Given the description of an element on the screen output the (x, y) to click on. 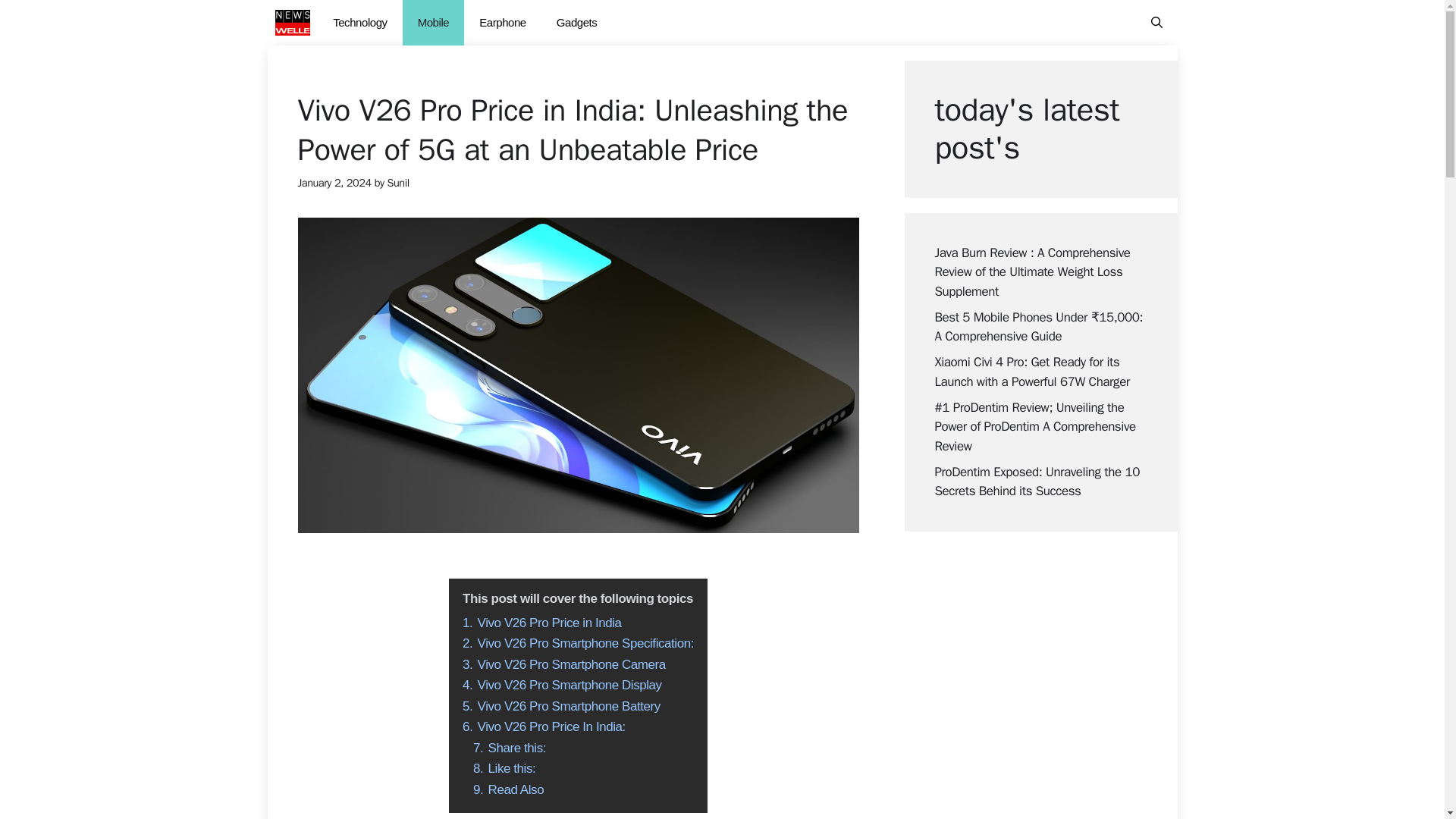
1. Vivo V26 Pro Price in India (542, 622)
2. Vivo V26 Pro Smartphone Specification: (578, 643)
View all posts by Sunil (398, 182)
Earphone (502, 22)
Mobile (433, 22)
8. Like this: (504, 768)
Gadgets (576, 22)
Sunil (398, 182)
6. Vivo V26 Pro Price In India: (544, 726)
5. Vivo V26 Pro Smartphone Battery (562, 706)
